Given the description of an element on the screen output the (x, y) to click on. 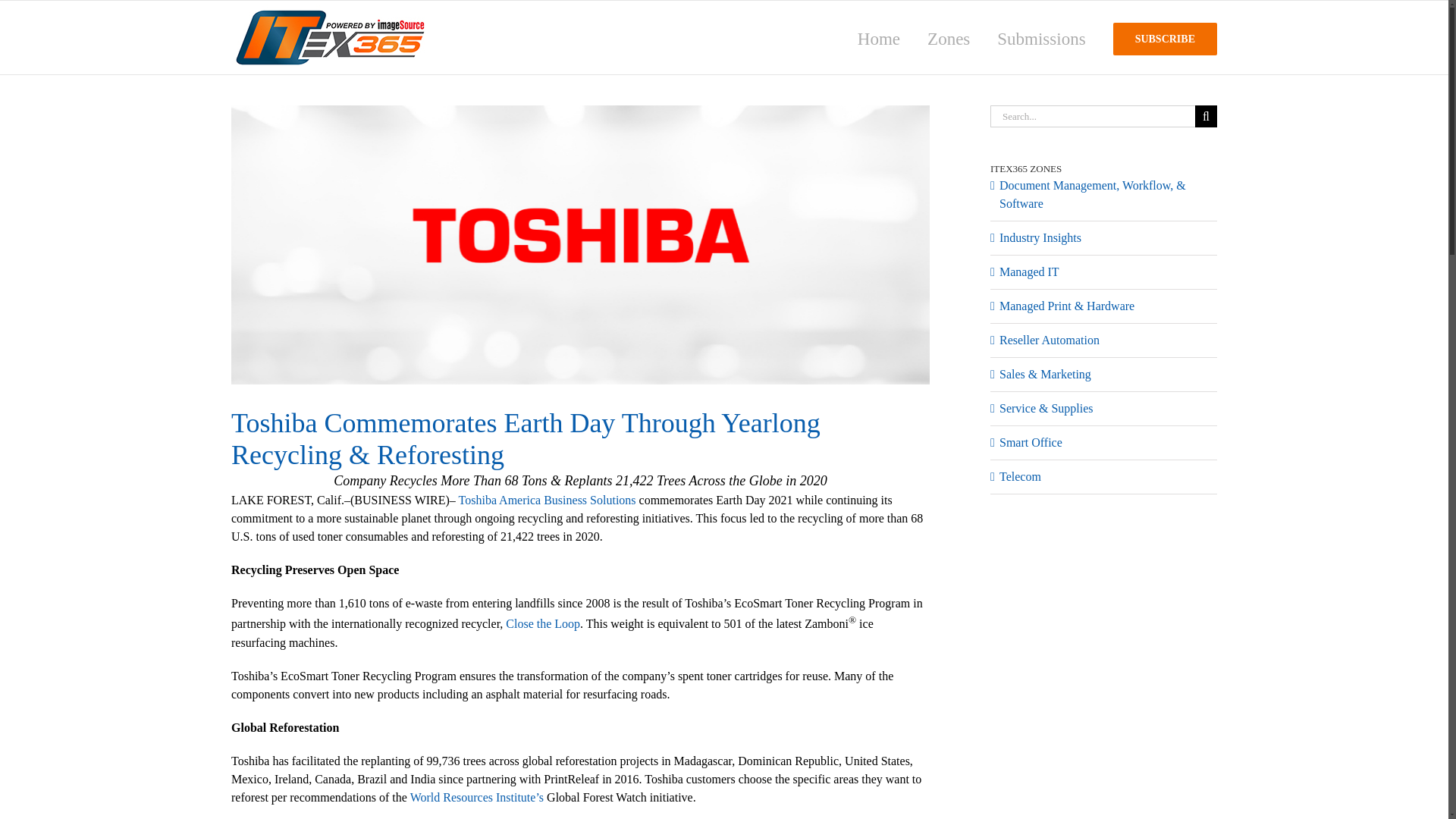
Close the Loop (542, 624)
Submissions (1040, 37)
SUBSCRIBE (1165, 37)
Toshiba America Business Solutions (547, 499)
